Given the description of an element on the screen output the (x, y) to click on. 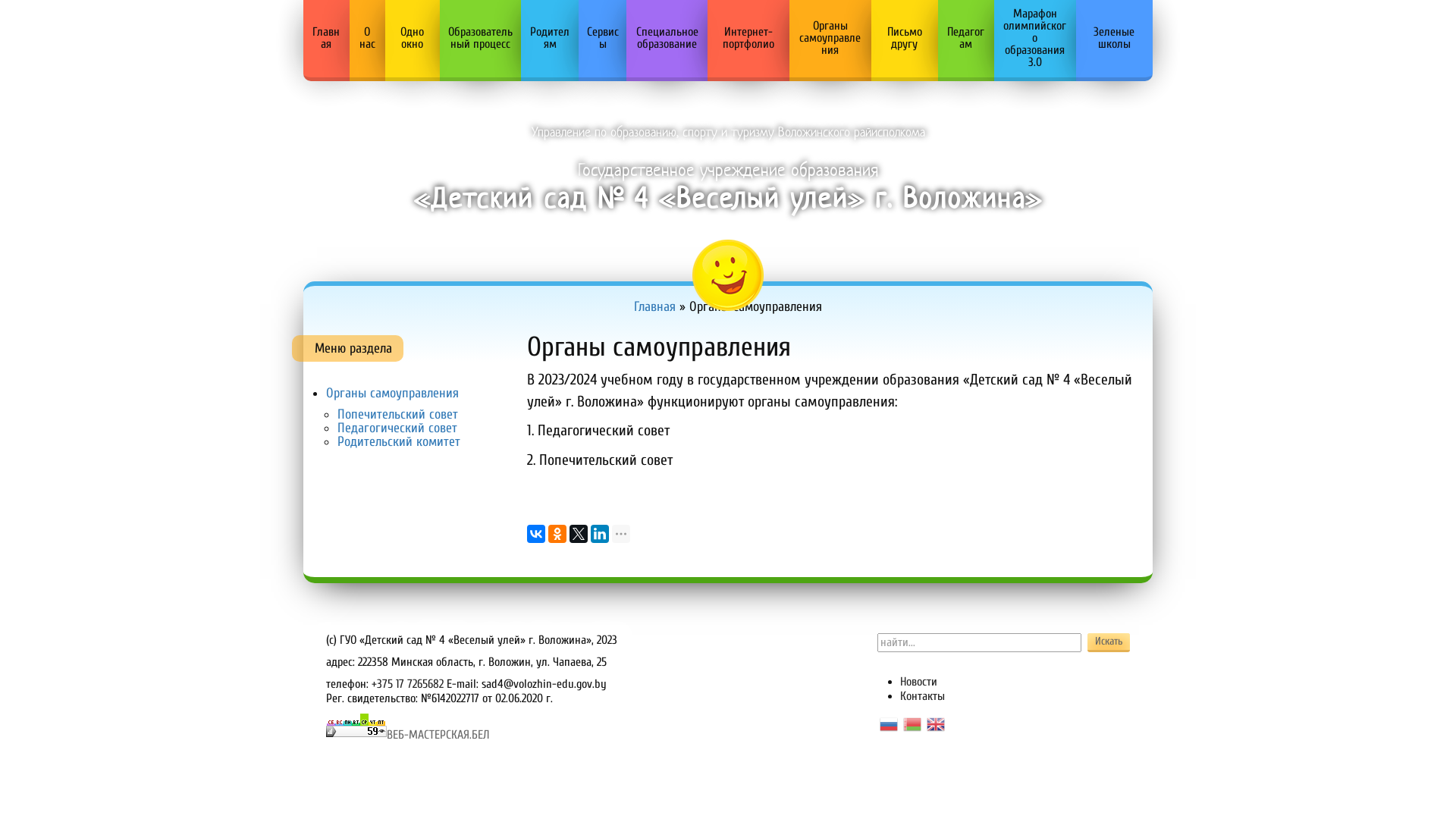
+375 17 7265682 Element type: text (407, 683)
LinkedIn Element type: hover (599, 533)
Twitter Element type: hover (578, 533)
